Given the description of an element on the screen output the (x, y) to click on. 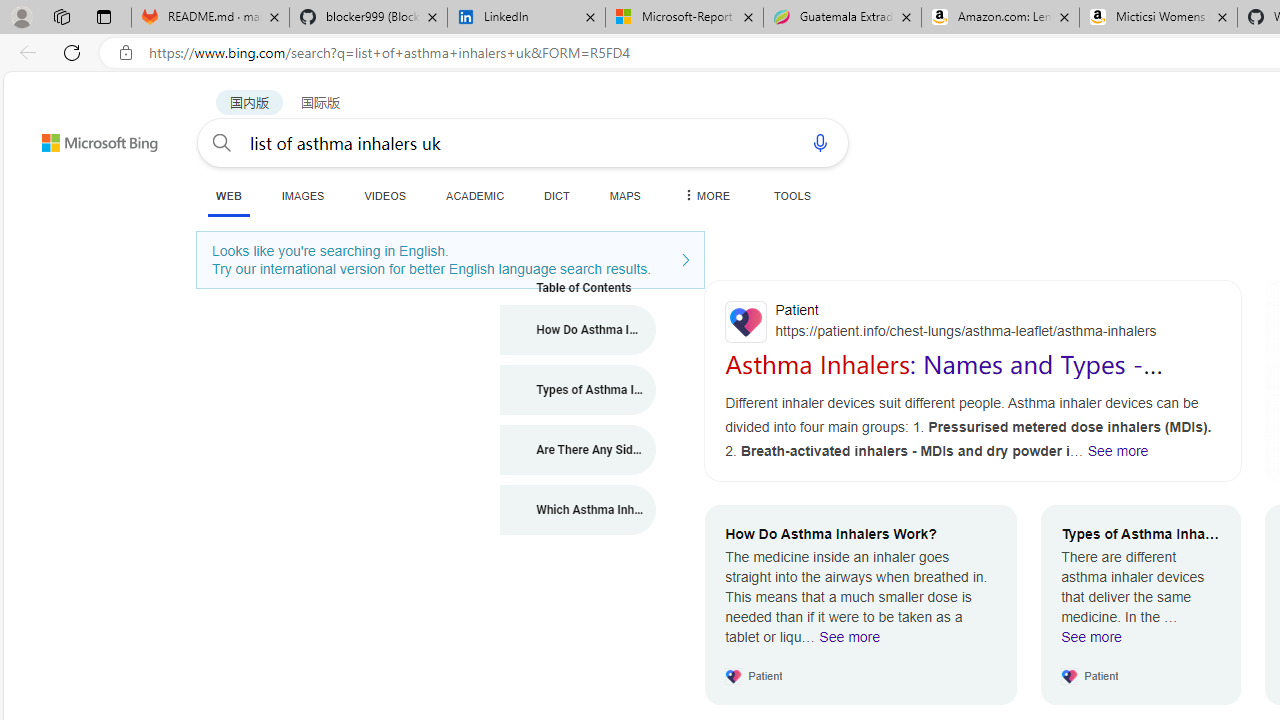
Which Asthma Inhaler Device Should I use? (578, 509)
Asthma Inhalers: Names and Types - Patient (943, 378)
DICT (557, 195)
Search using voice (820, 142)
Back to Bing search (87, 138)
TOOLS (792, 195)
